Given the description of an element on the screen output the (x, y) to click on. 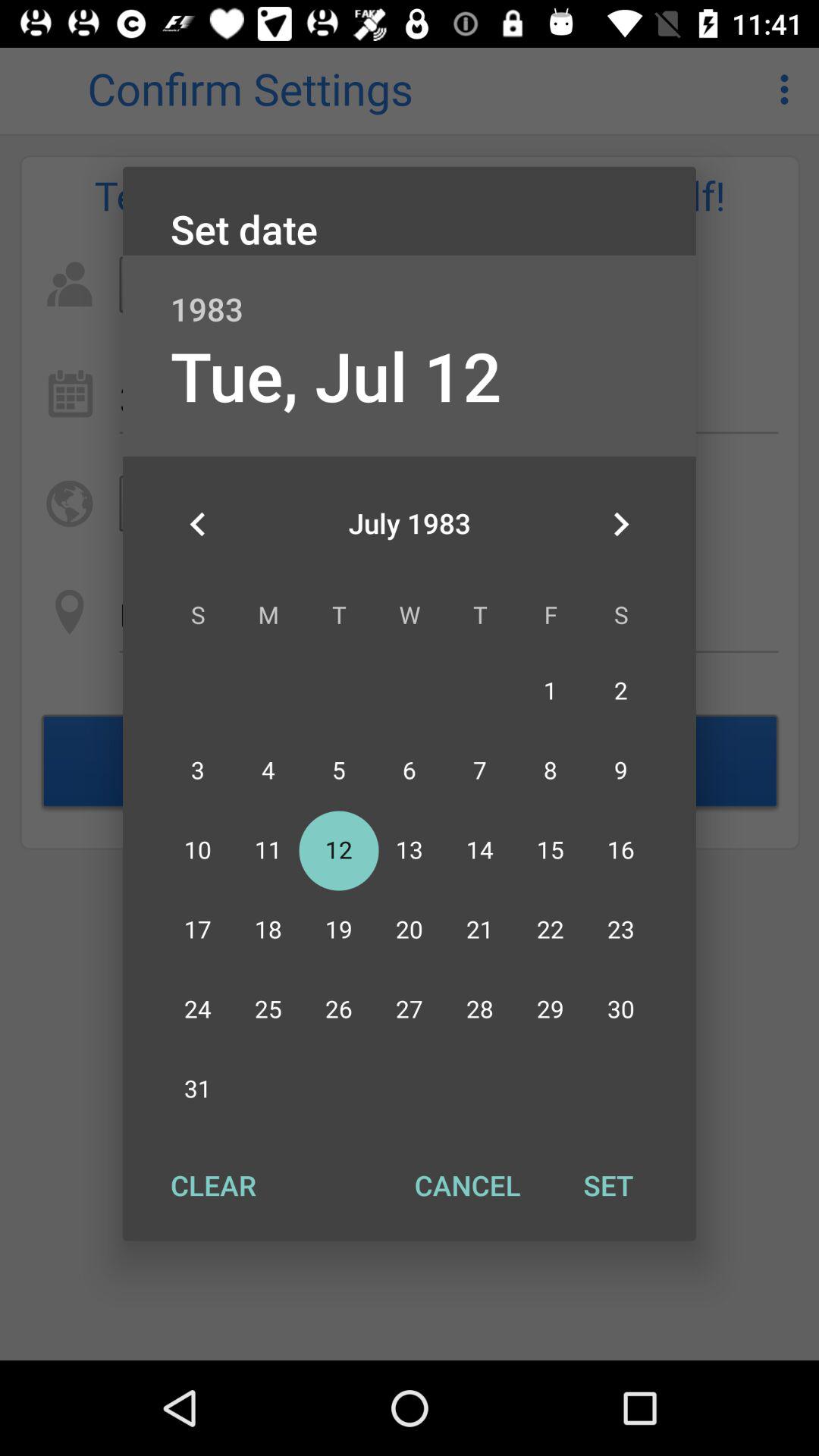
click the icon to the right of the clear item (467, 1185)
